Given the description of an element on the screen output the (x, y) to click on. 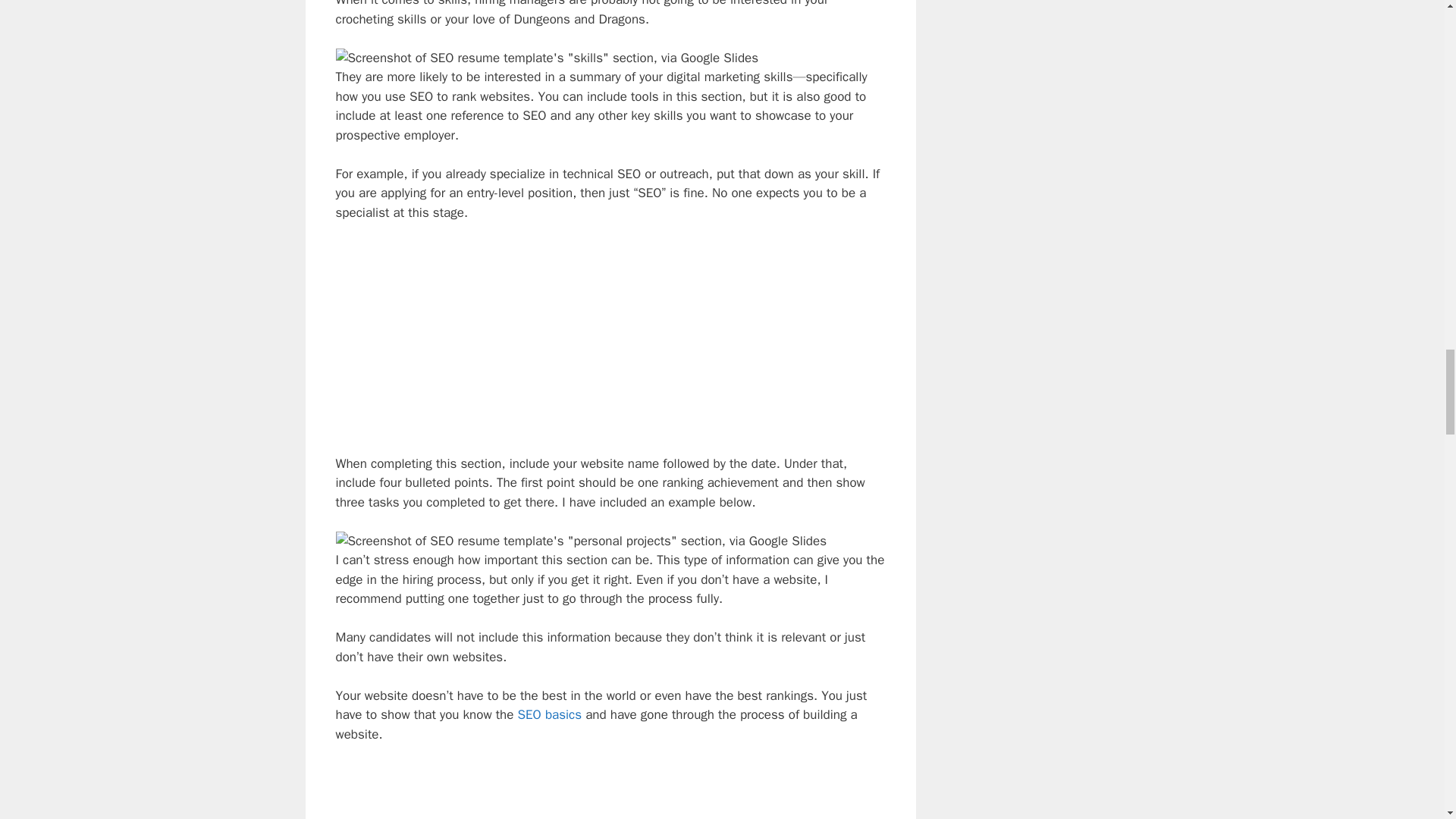
SEO basics (550, 714)
